Given the description of an element on the screen output the (x, y) to click on. 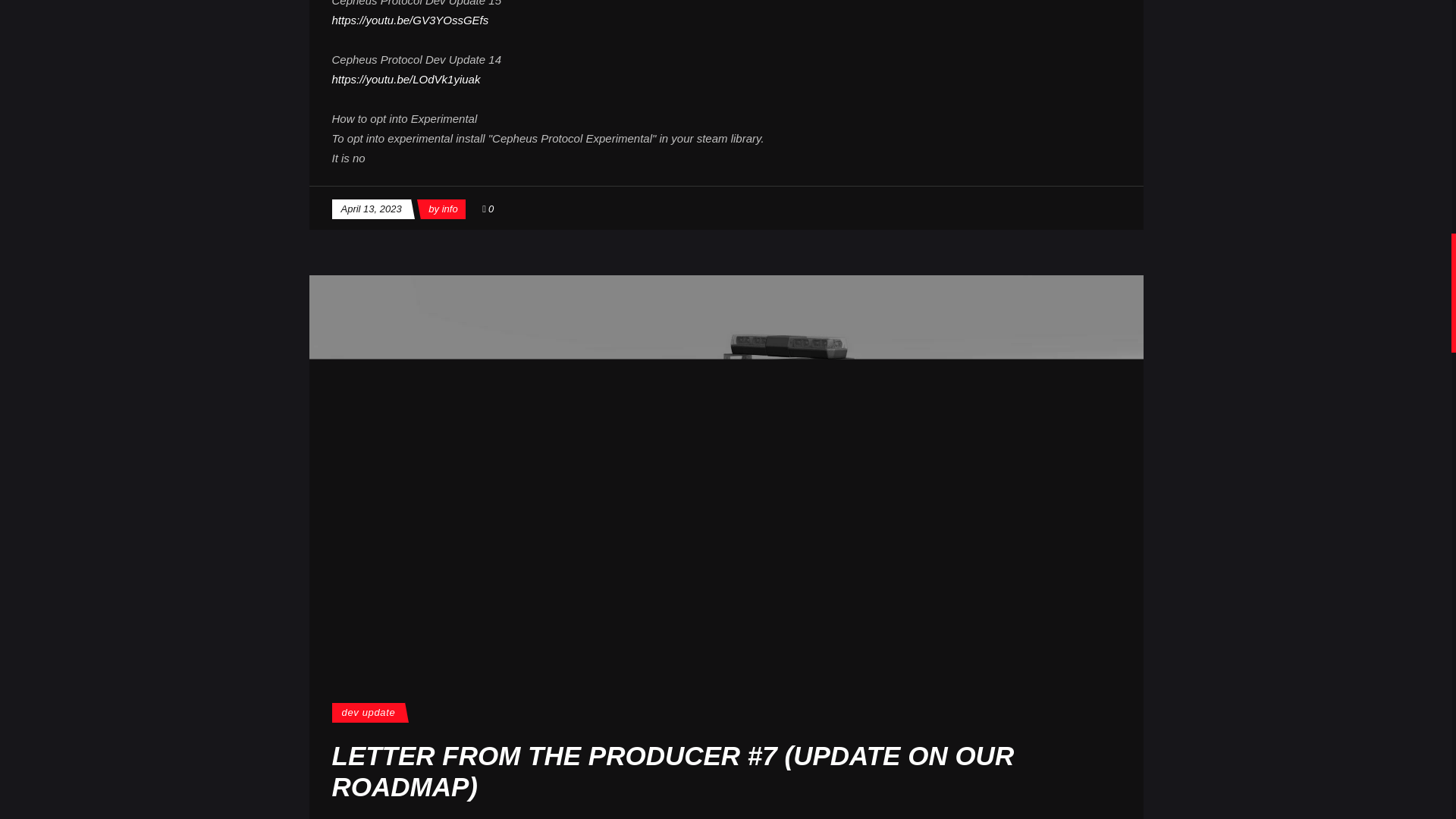
Like this (487, 208)
